Given the description of an element on the screen output the (x, y) to click on. 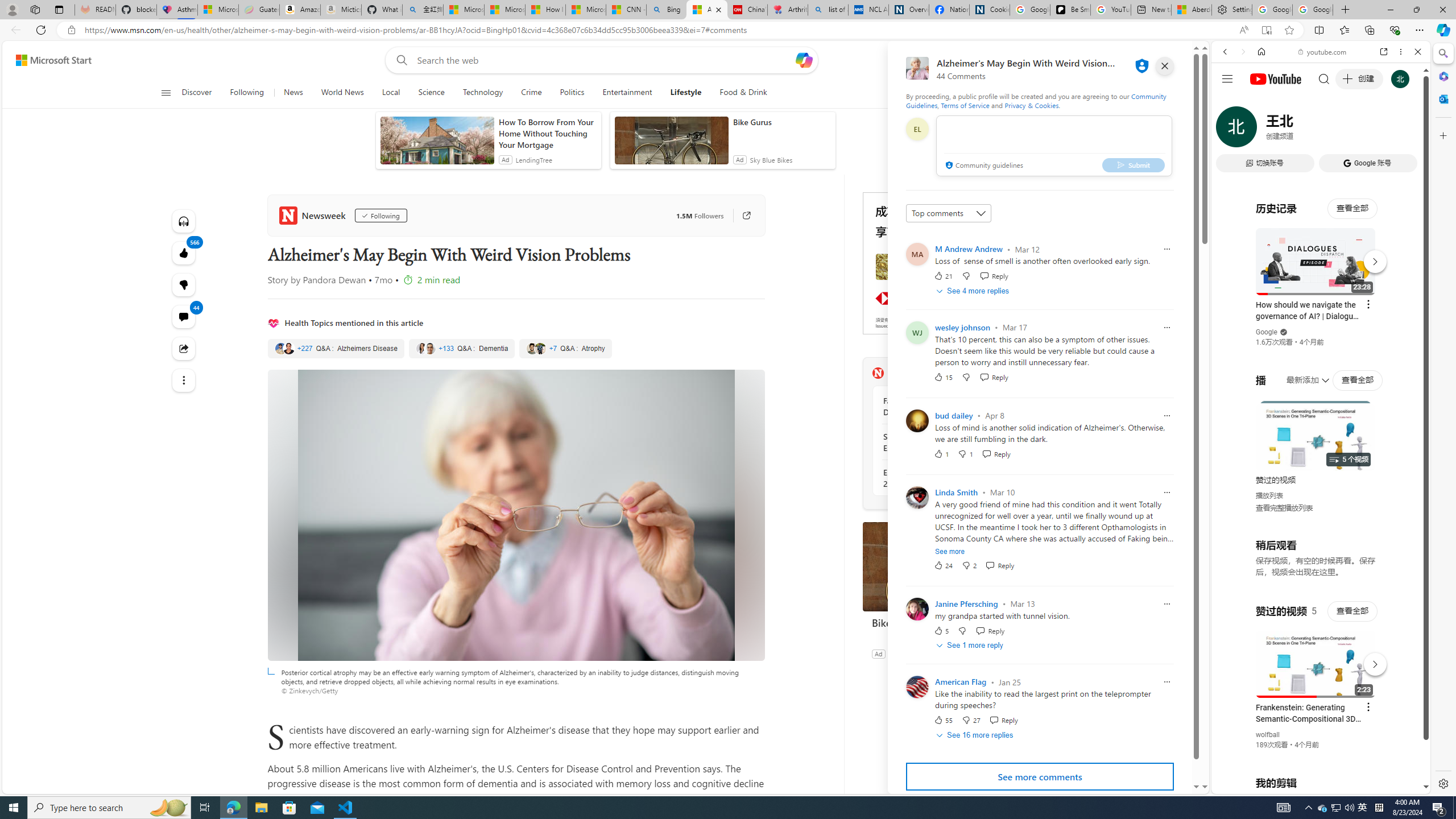
Google (1320, 281)
Trailer #2 [HD] (1320, 336)
Search Filter, WEB (1230, 129)
Community guidelines (983, 165)
Web scope (1230, 102)
VIDEOS (1300, 130)
IMAGES (1262, 130)
Click to scroll right (1407, 456)
Class: dict_pnIcon rms_img (1312, 784)
Forward (1242, 51)
Terms of Service (965, 104)
Restore (1416, 9)
